Given the description of an element on the screen output the (x, y) to click on. 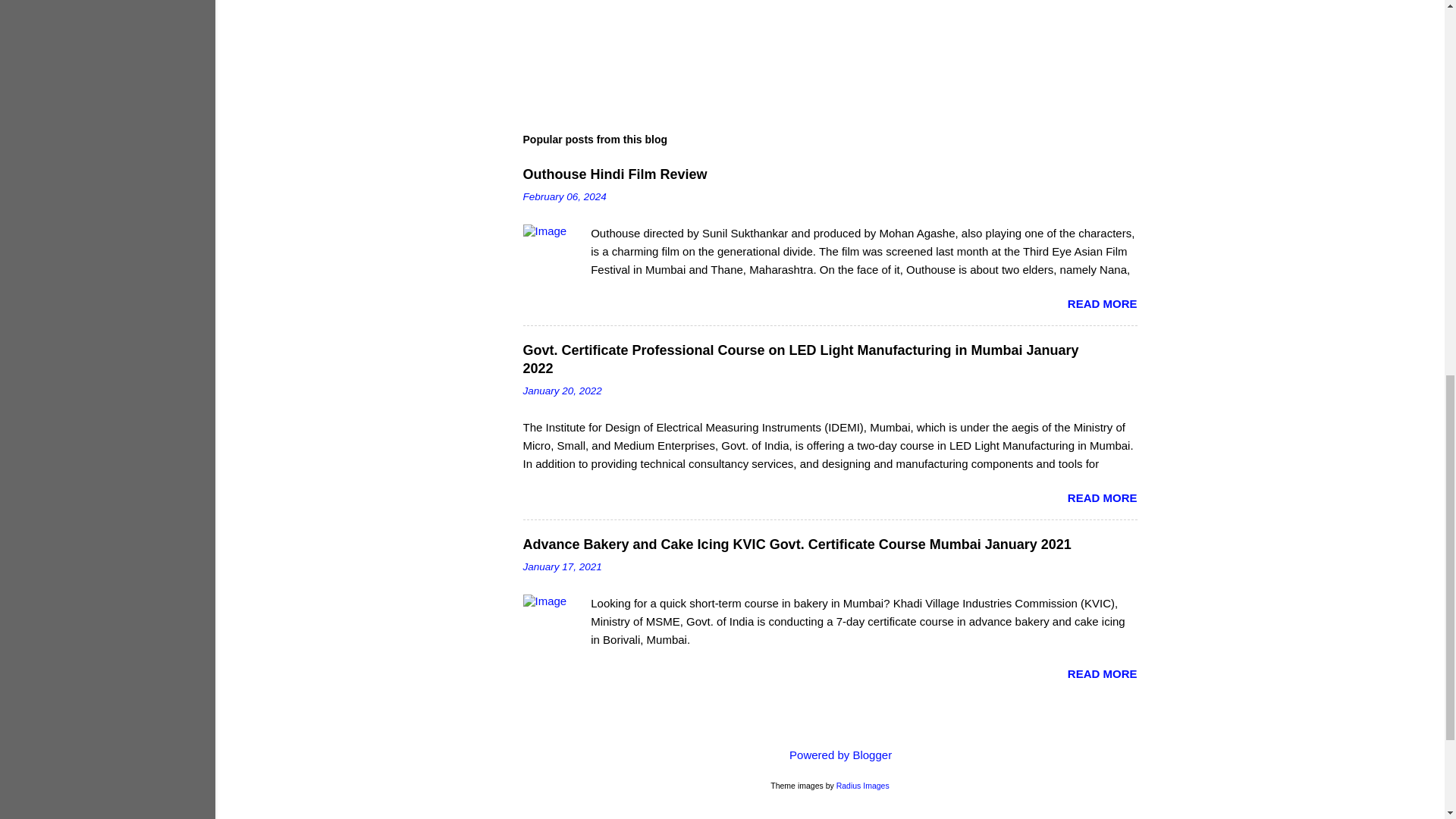
READ MORE (1102, 497)
READ MORE (1102, 303)
Powered by Blogger (829, 754)
Radius Images (862, 785)
Outhouse Hindi Film Review (614, 174)
February 06, 2024 (564, 196)
permanent link (564, 196)
January 17, 2021 (562, 566)
January 20, 2022 (562, 390)
READ MORE (1102, 673)
